Given the description of an element on the screen output the (x, y) to click on. 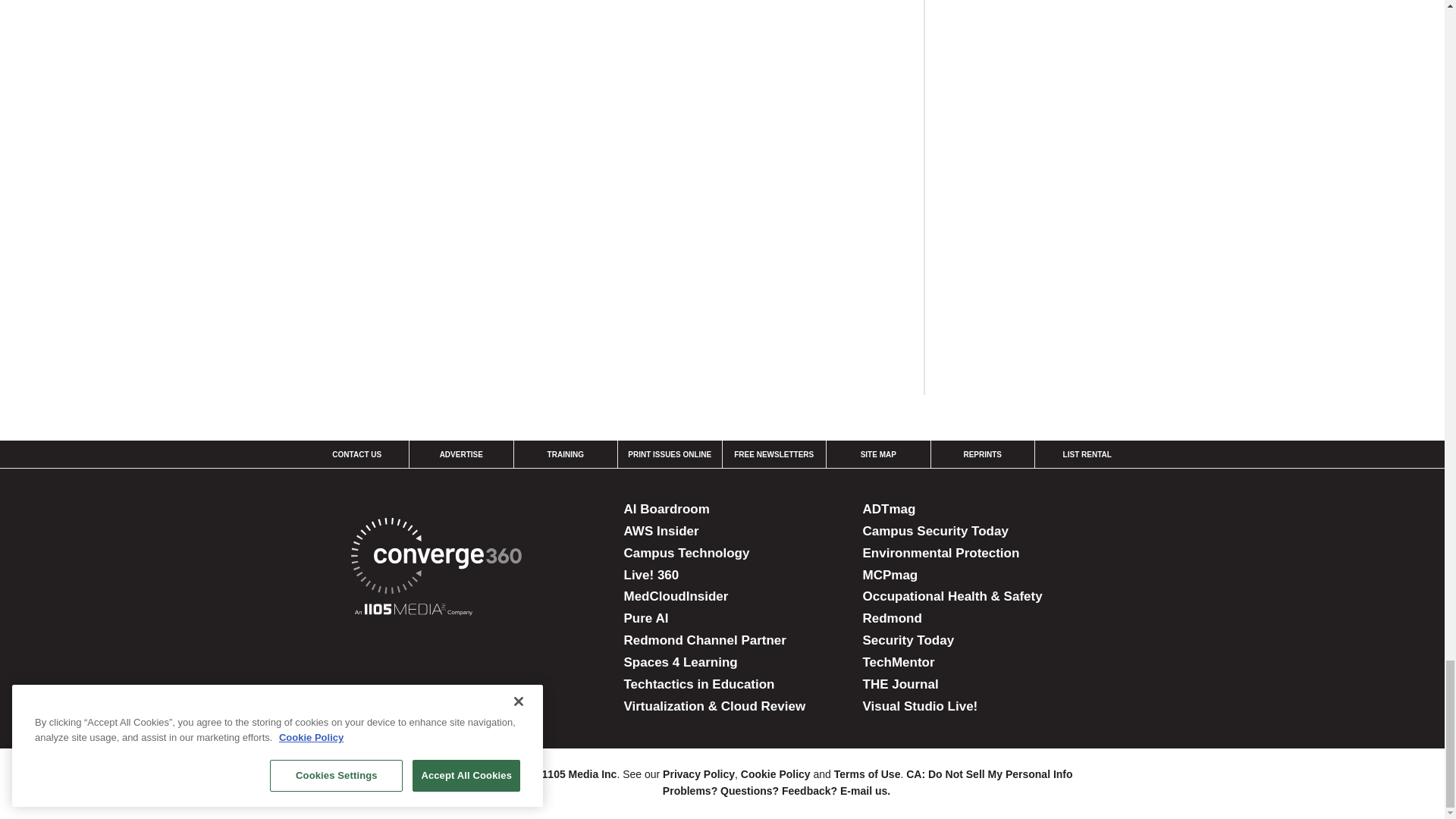
3rd party ad content (1059, 64)
3rd party ad content (1059, 262)
